Given the description of an element on the screen output the (x, y) to click on. 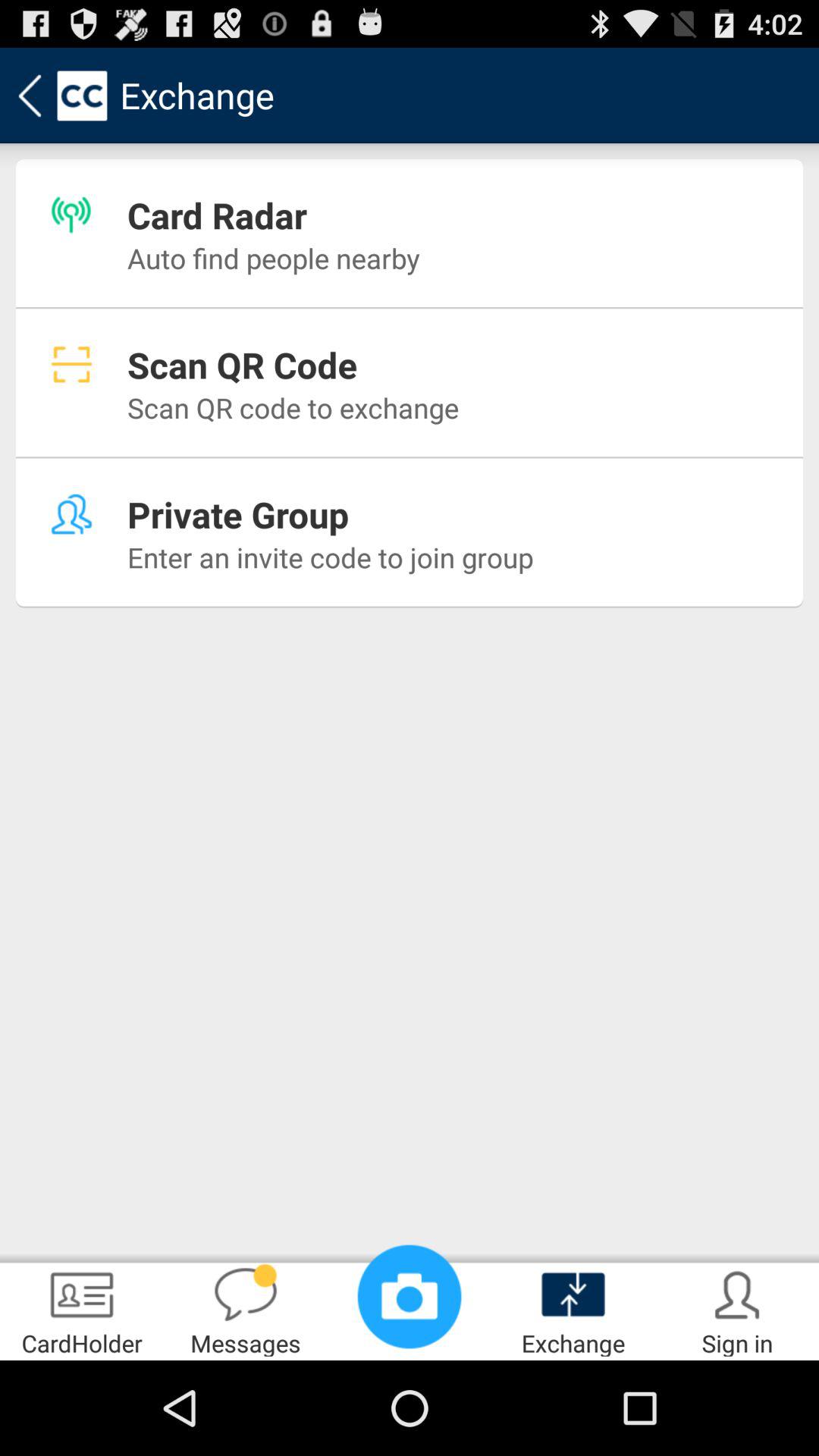
choose the item at the bottom (409, 1296)
